Given the description of an element on the screen output the (x, y) to click on. 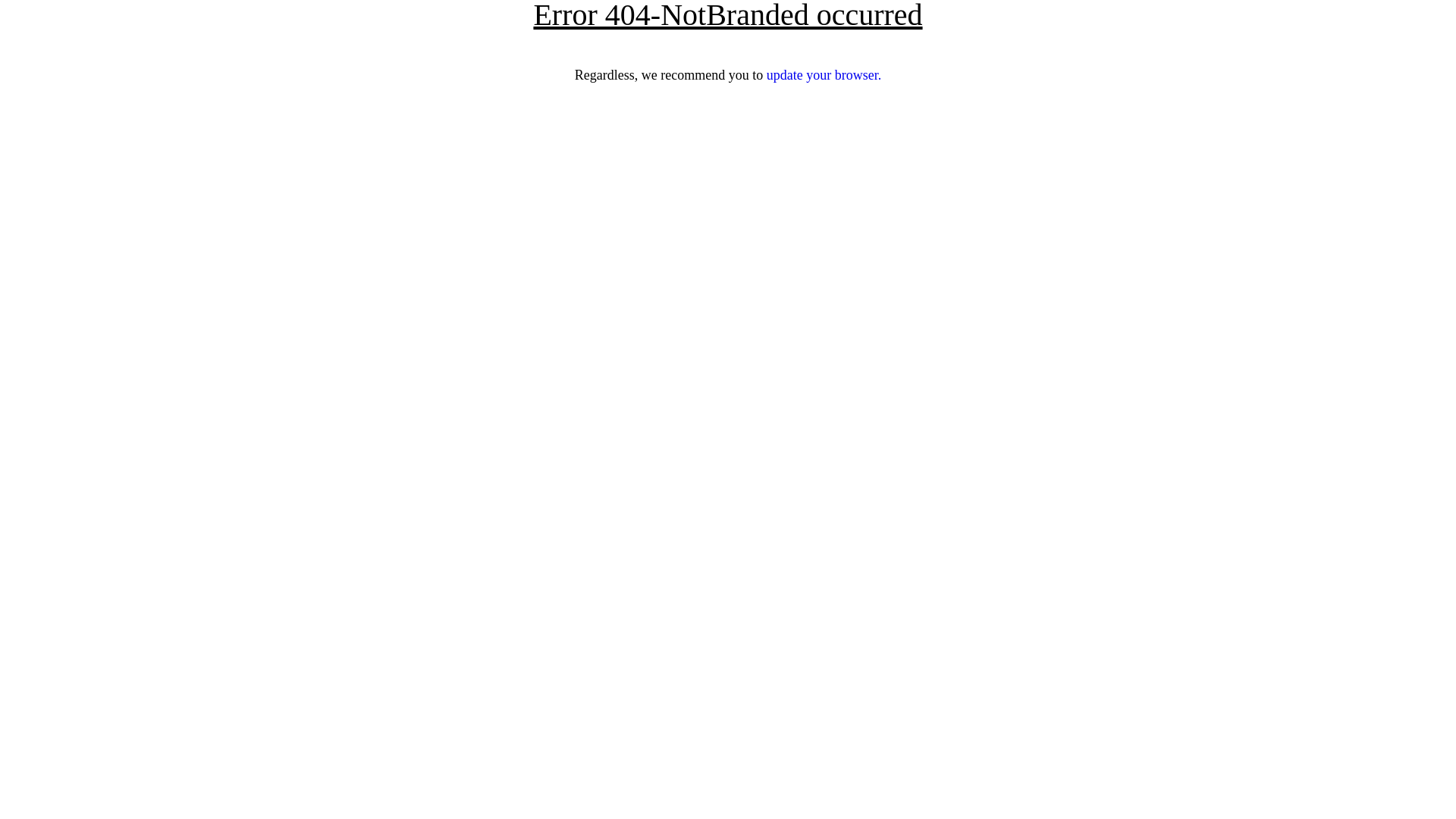
update your browser. Element type: text (823, 74)
